Given the description of an element on the screen output the (x, y) to click on. 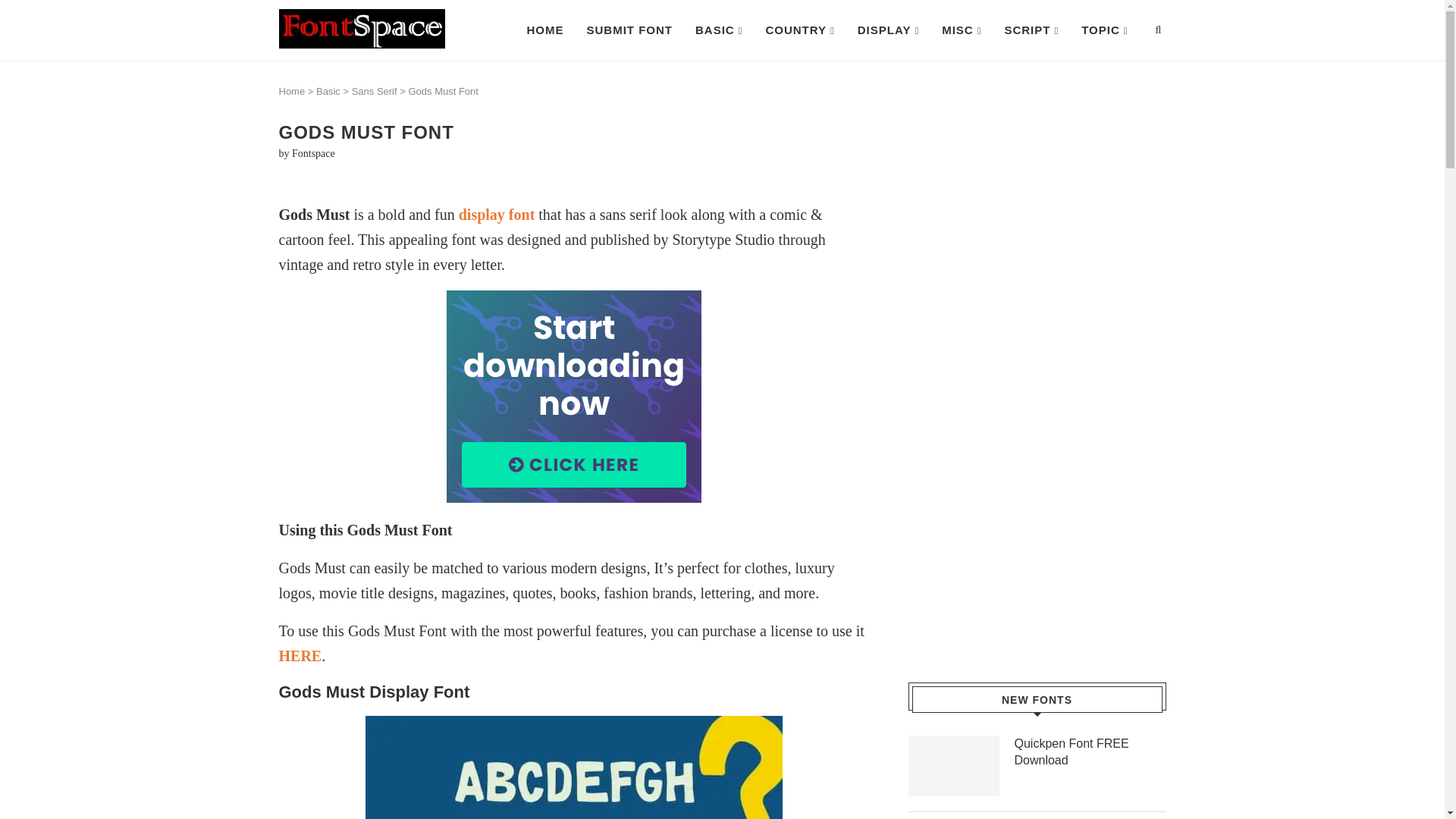
Get access to thousands of craft files (574, 396)
